Given the description of an element on the screen output the (x, y) to click on. 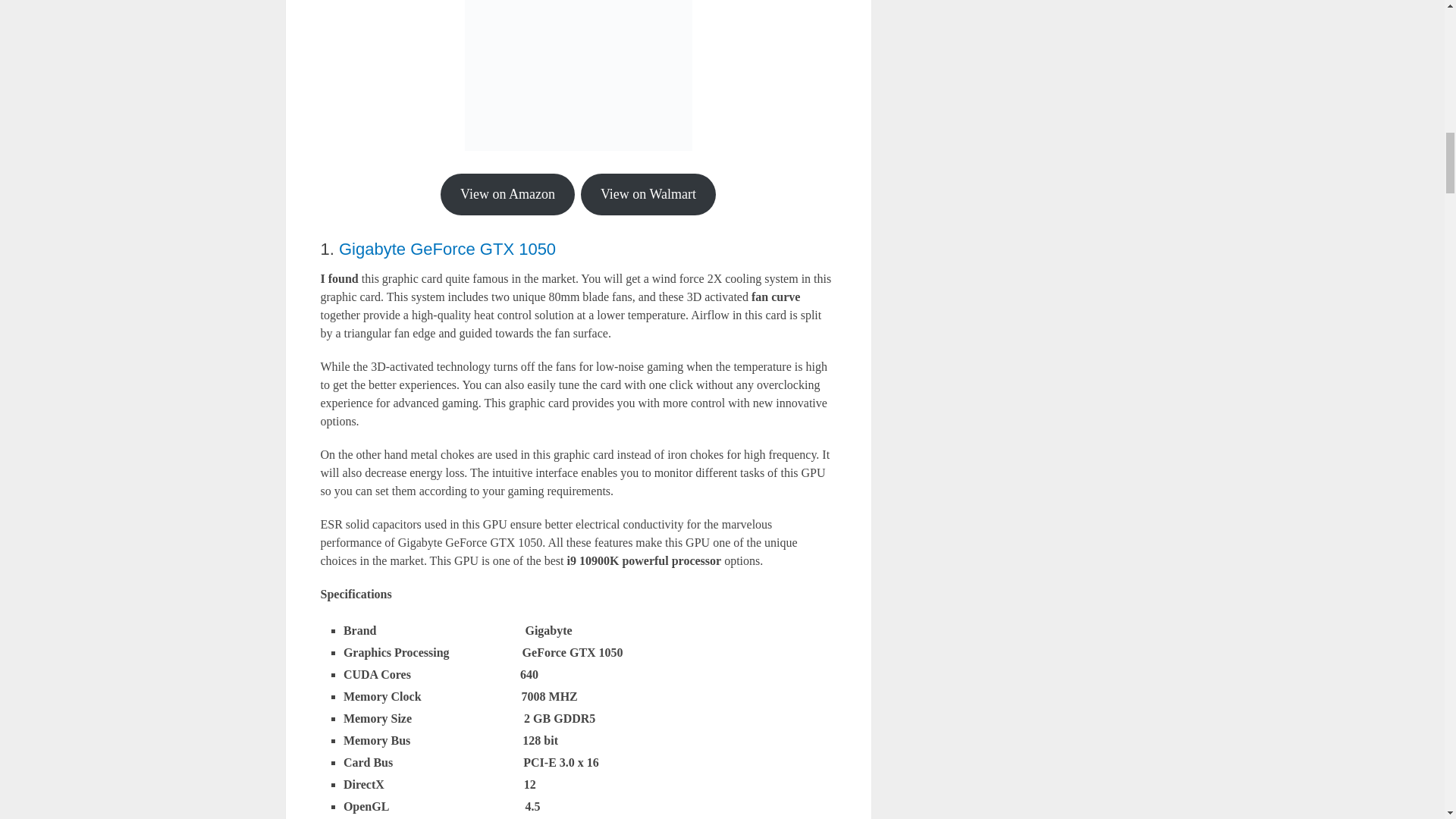
View on Amazon (508, 194)
View on Walmart (648, 194)
Gigabyte GeForce GTX 1050 (447, 248)
